Given the description of an element on the screen output the (x, y) to click on. 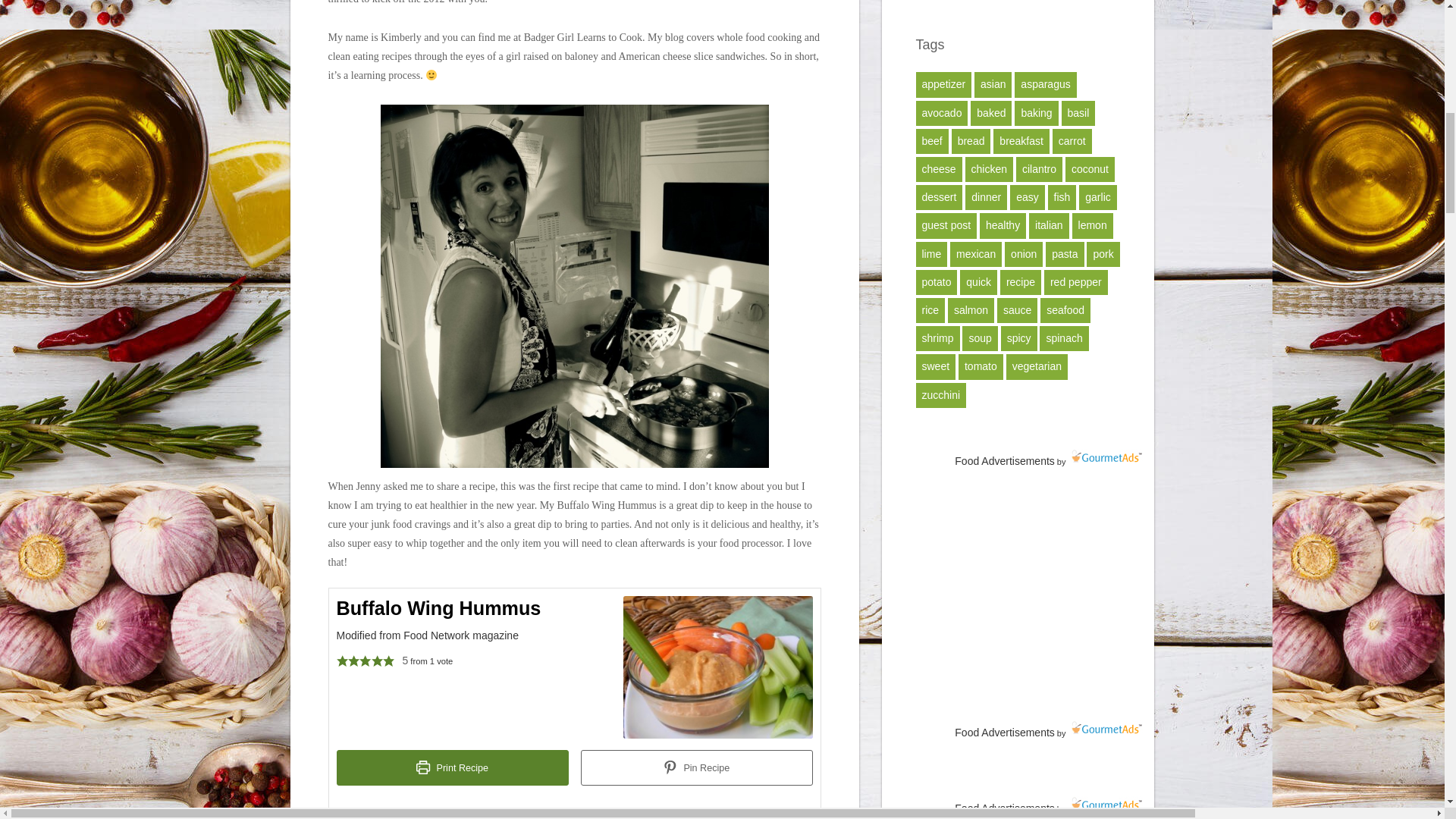
Food Advertisements (1004, 460)
Food Advertisements (1004, 732)
Badger Girl Learns to Cook (583, 37)
Badger Girl Learns to Cook (583, 37)
Pin Recipe (696, 767)
Print Recipe (452, 767)
